Given the description of an element on the screen output the (x, y) to click on. 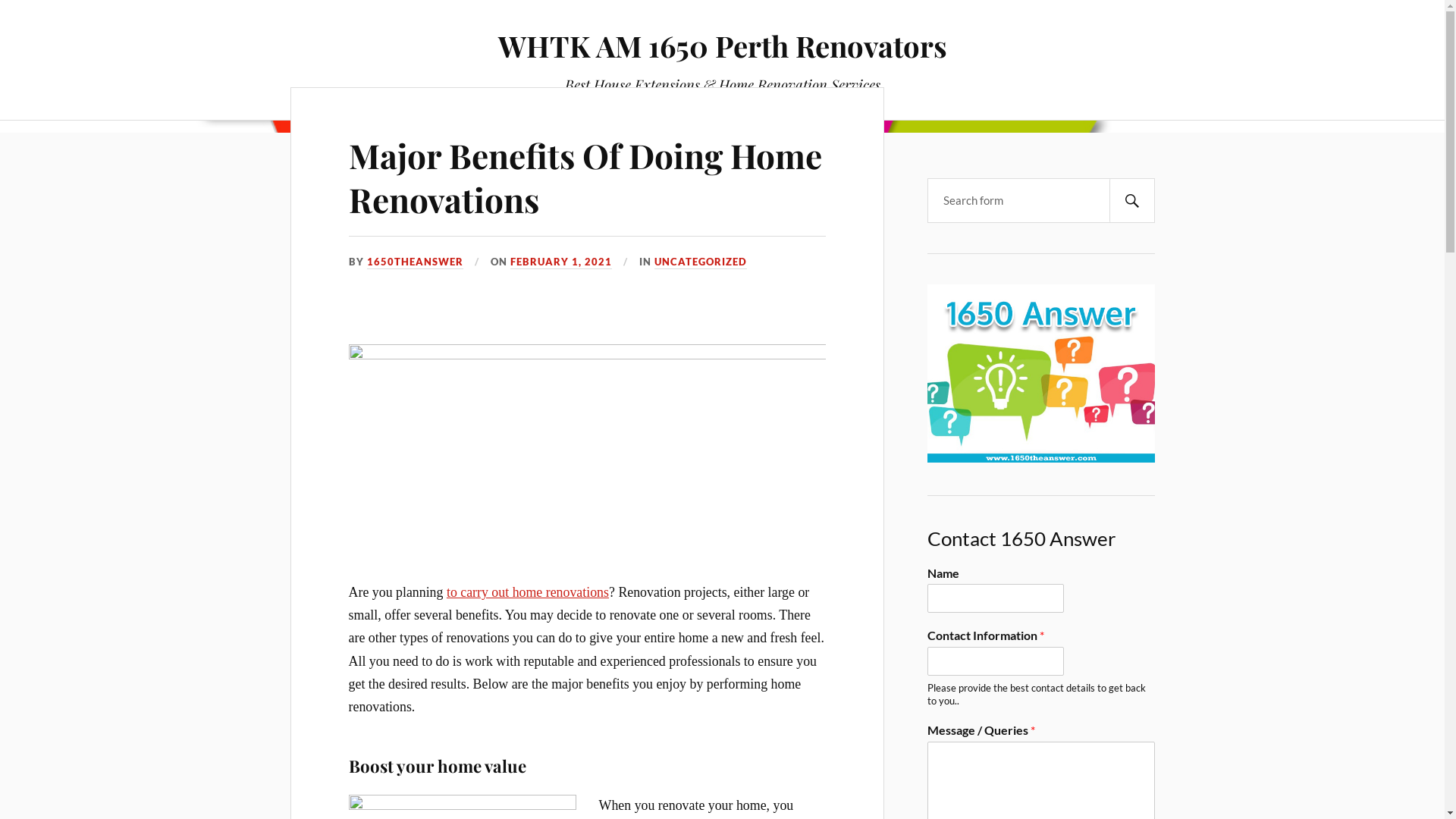
1650THEANSWER Element type: text (415, 262)
FEBRUARY 1, 2021 Element type: text (560, 262)
UNCATEGORIZED Element type: text (700, 262)
to carry out home renovations Element type: text (527, 591)
WHTK AM 1650 Perth Renovators Element type: text (721, 45)
Major Benefits Of Doing Home Renovations Element type: text (585, 176)
